Given the description of an element on the screen output the (x, y) to click on. 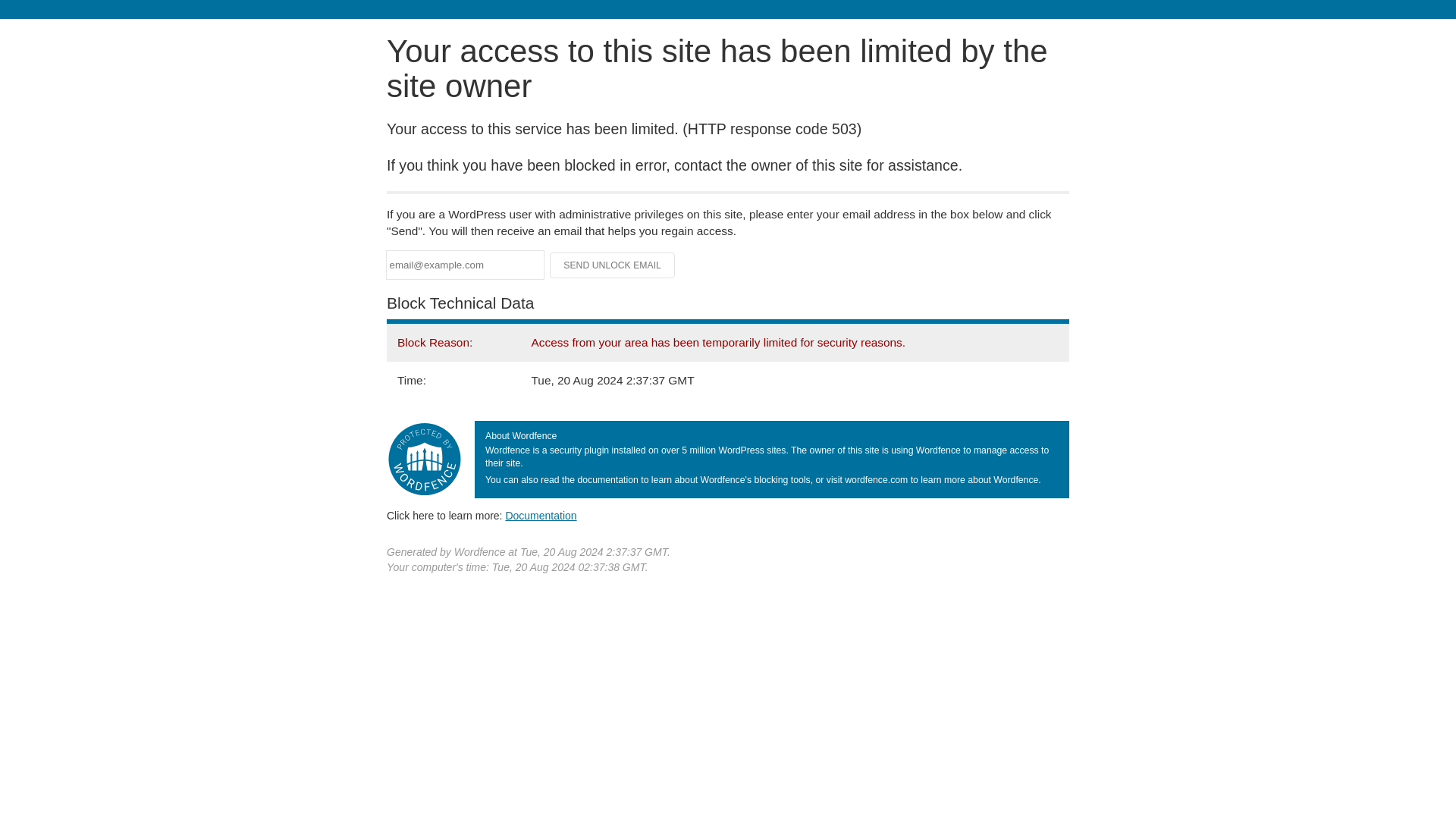
Send Unlock Email (612, 265)
Send Unlock Email (612, 265)
Documentation (540, 515)
